Given the description of an element on the screen output the (x, y) to click on. 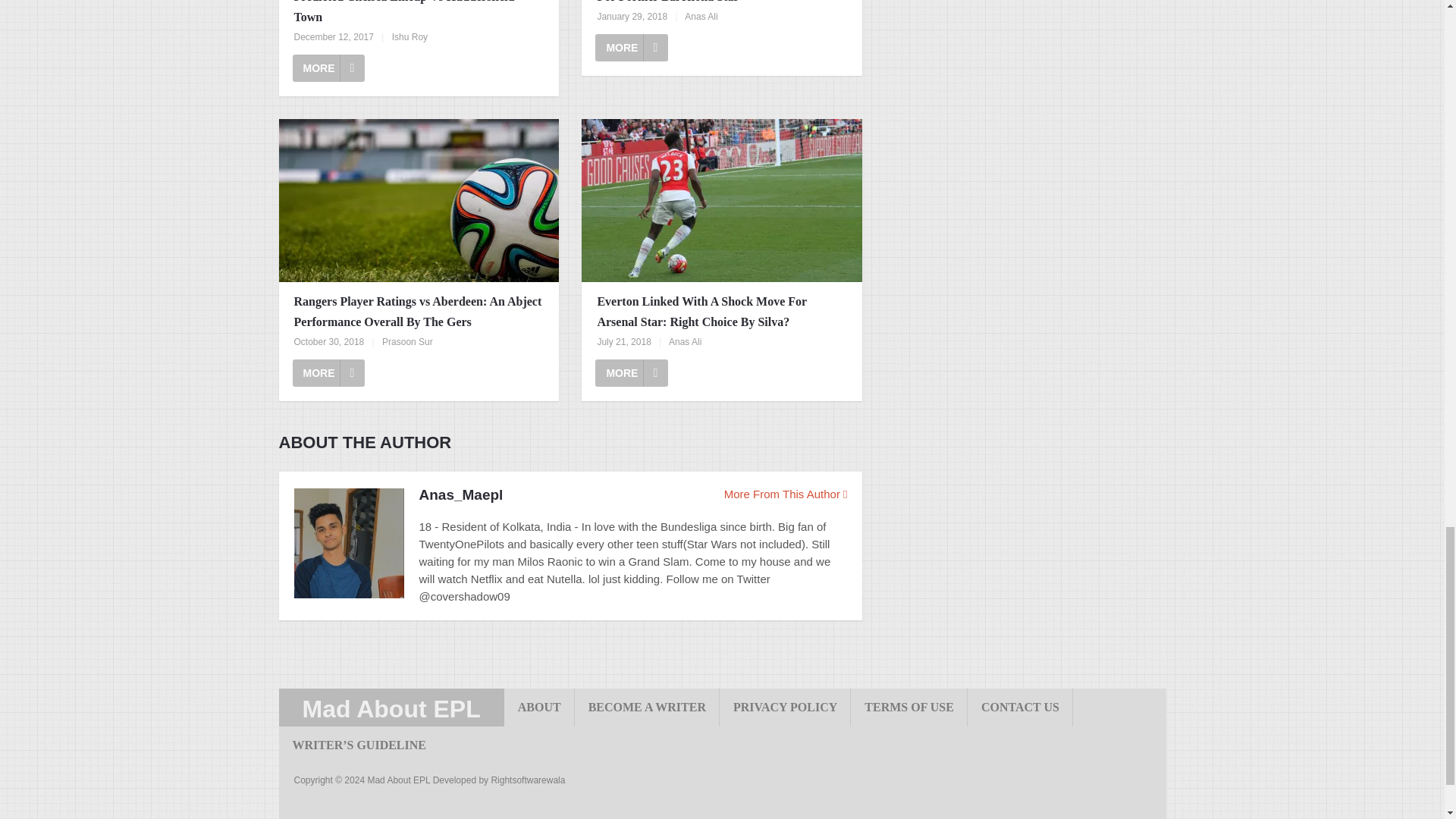
Posts by Ishu Roy (409, 36)
Posts by Anas Ali (700, 16)
